Given the description of an element on the screen output the (x, y) to click on. 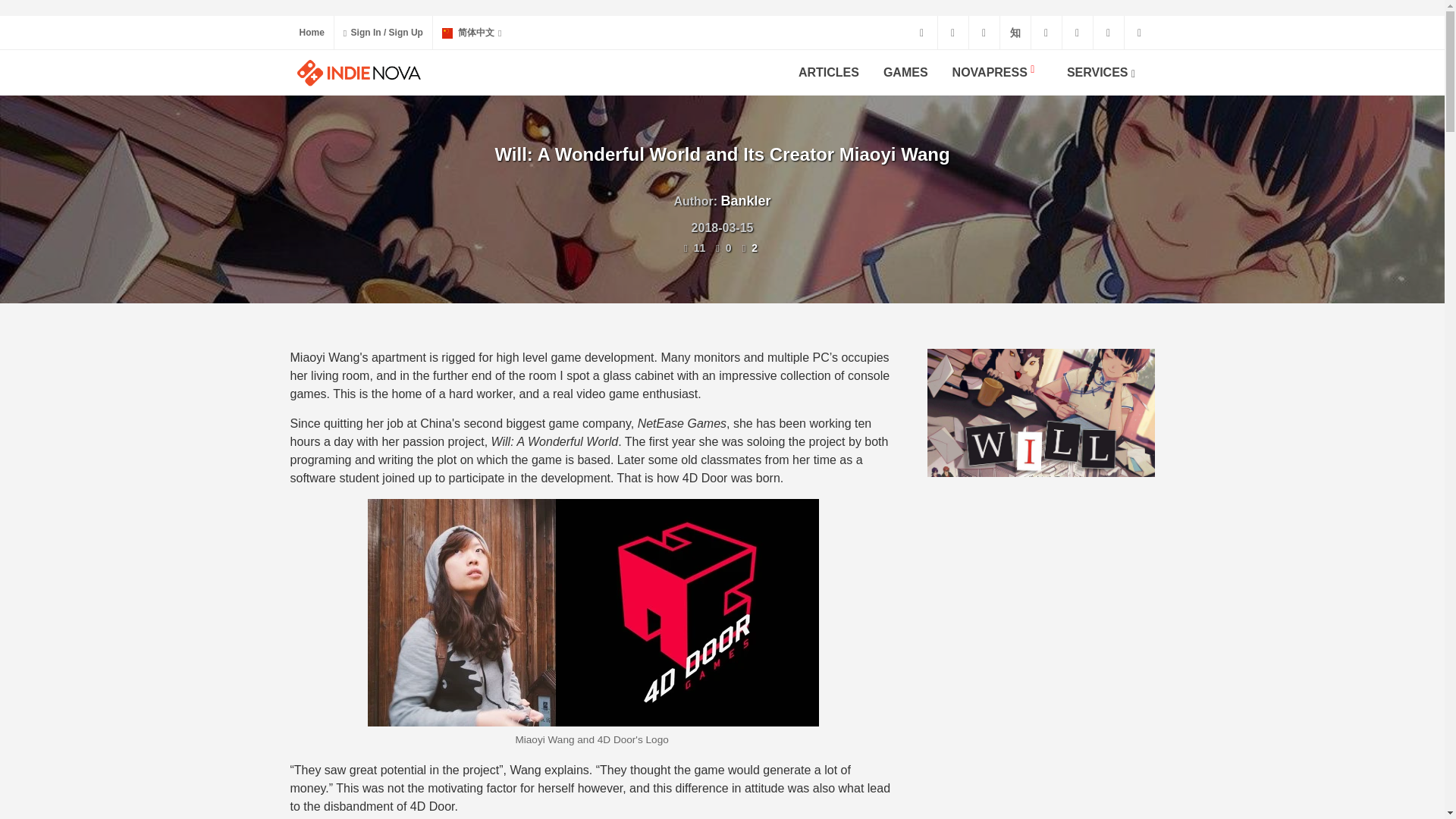
NOVAPRESS (997, 72)
GAMES (905, 72)
Home (311, 32)
ARTICLES (828, 72)
Bankler (745, 204)
SERVICES (1104, 72)
